Given the description of an element on the screen output the (x, y) to click on. 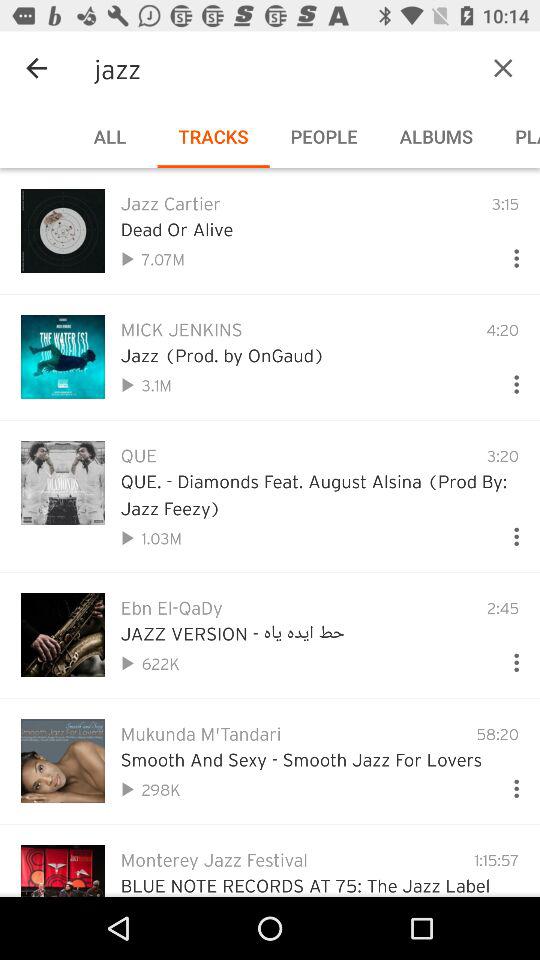
press the item next to the jazz (503, 68)
